Given the description of an element on the screen output the (x, y) to click on. 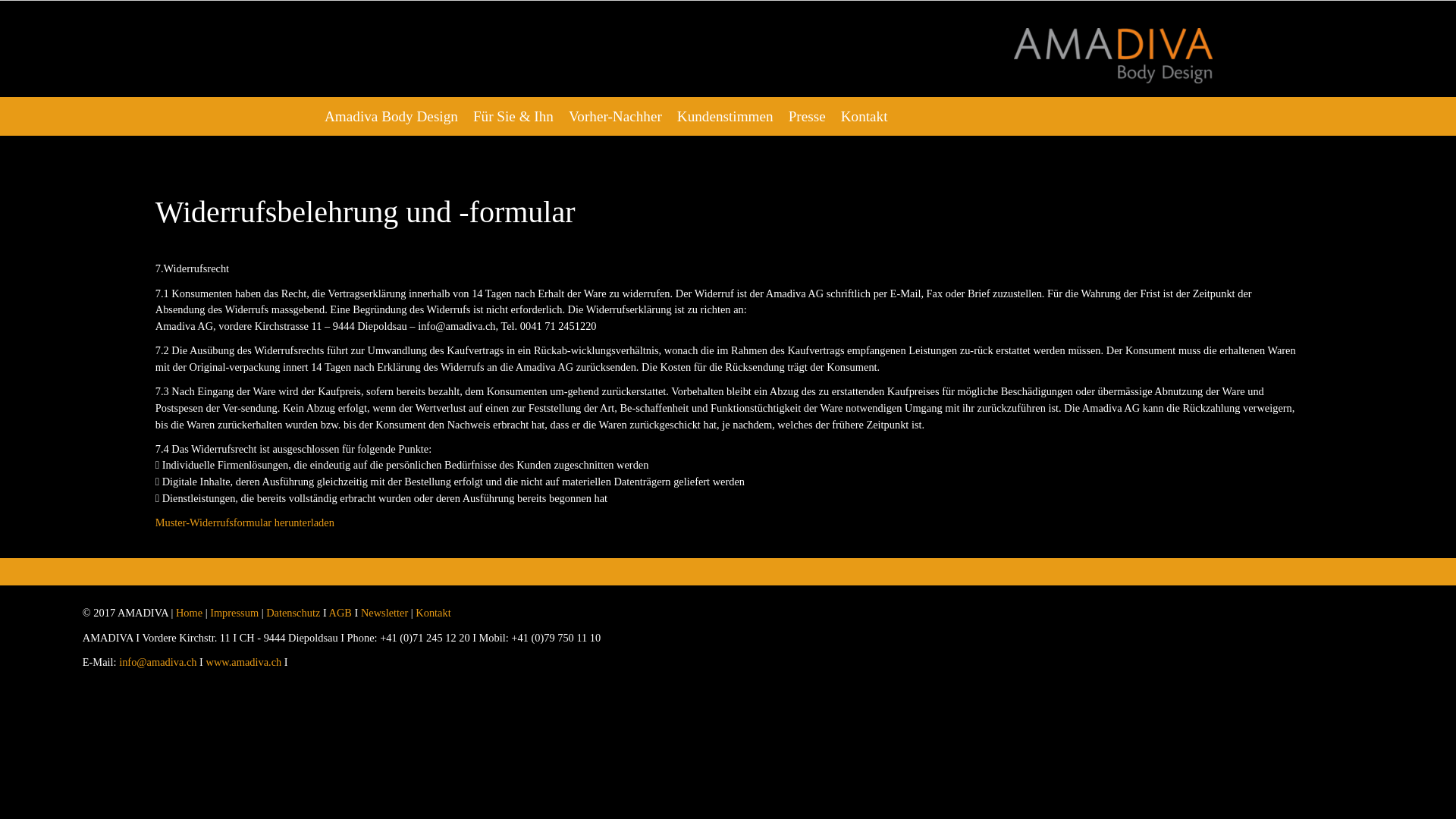
Kontakt Element type: text (432, 612)
Impressum Element type: text (234, 612)
AGB Element type: text (339, 612)
Vorher-Nachher Element type: text (615, 116)
www.amadiva.ch Element type: text (244, 661)
Newsletter Element type: text (383, 612)
Kontakt Element type: text (864, 116)
Kundenstimmen Element type: text (725, 116)
Muster-Widerrufsformular herunterladen Element type: text (244, 522)
Amadiva Body Design Element type: text (391, 116)
Datenschutz Element type: text (293, 612)
info@amadiva.ch Element type: text (157, 661)
Presse Element type: text (806, 116)
Home Element type: text (188, 612)
